Given the description of an element on the screen output the (x, y) to click on. 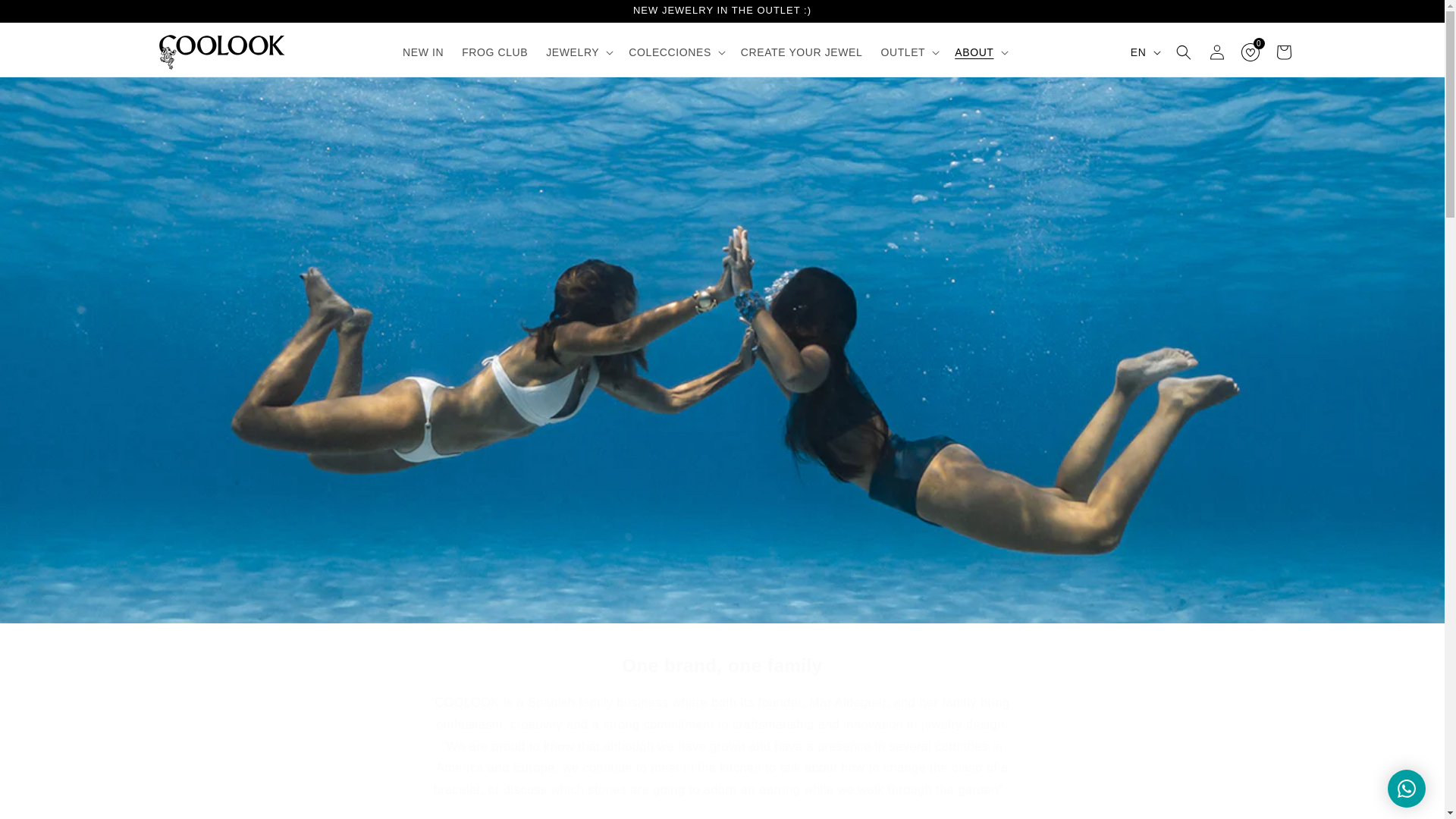
One brand, one family (721, 665)
Skip to content (45, 17)
